Given the description of an element on the screen output the (x, y) to click on. 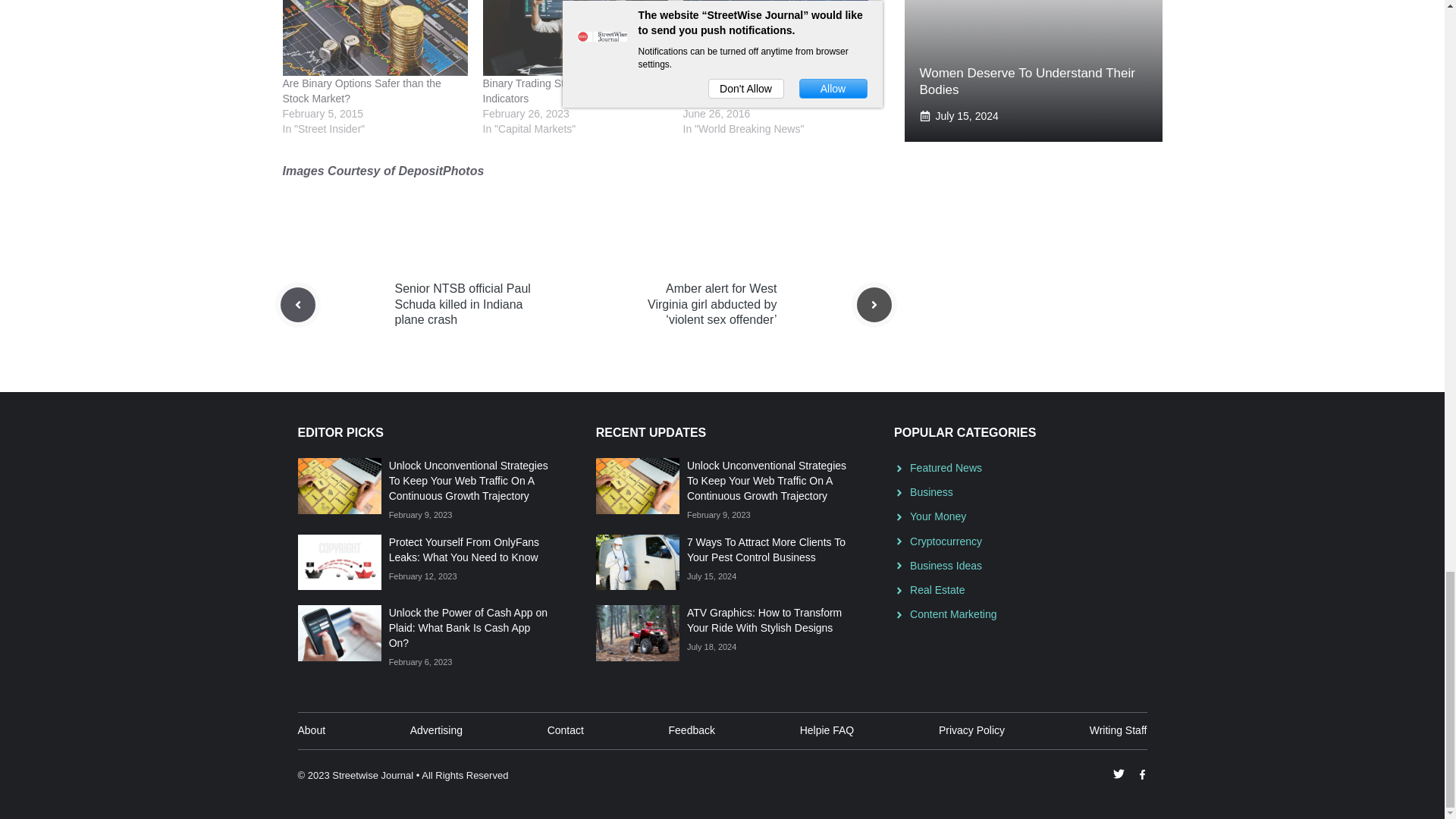
Are Binary Options Safer than the Stock Market? (361, 90)
Are Binary Options Safer than the Stock Market? (374, 37)
Binary Options Scams Run Rampant in Israel (774, 37)
DepositPhotos (440, 170)
Are Binary Options Safer than the Stock Market? (361, 90)
Binary Trading Strategies: How to Use Indicators (571, 90)
Binary Trading Strategies: How to Use Indicators (573, 37)
Binary Options Scams Run Rampant in Israel (774, 90)
Binary Trading Strategies: How to Use Indicators (571, 90)
Binary Options Scams Run Rampant in Israel (774, 90)
